Given the description of an element on the screen output the (x, y) to click on. 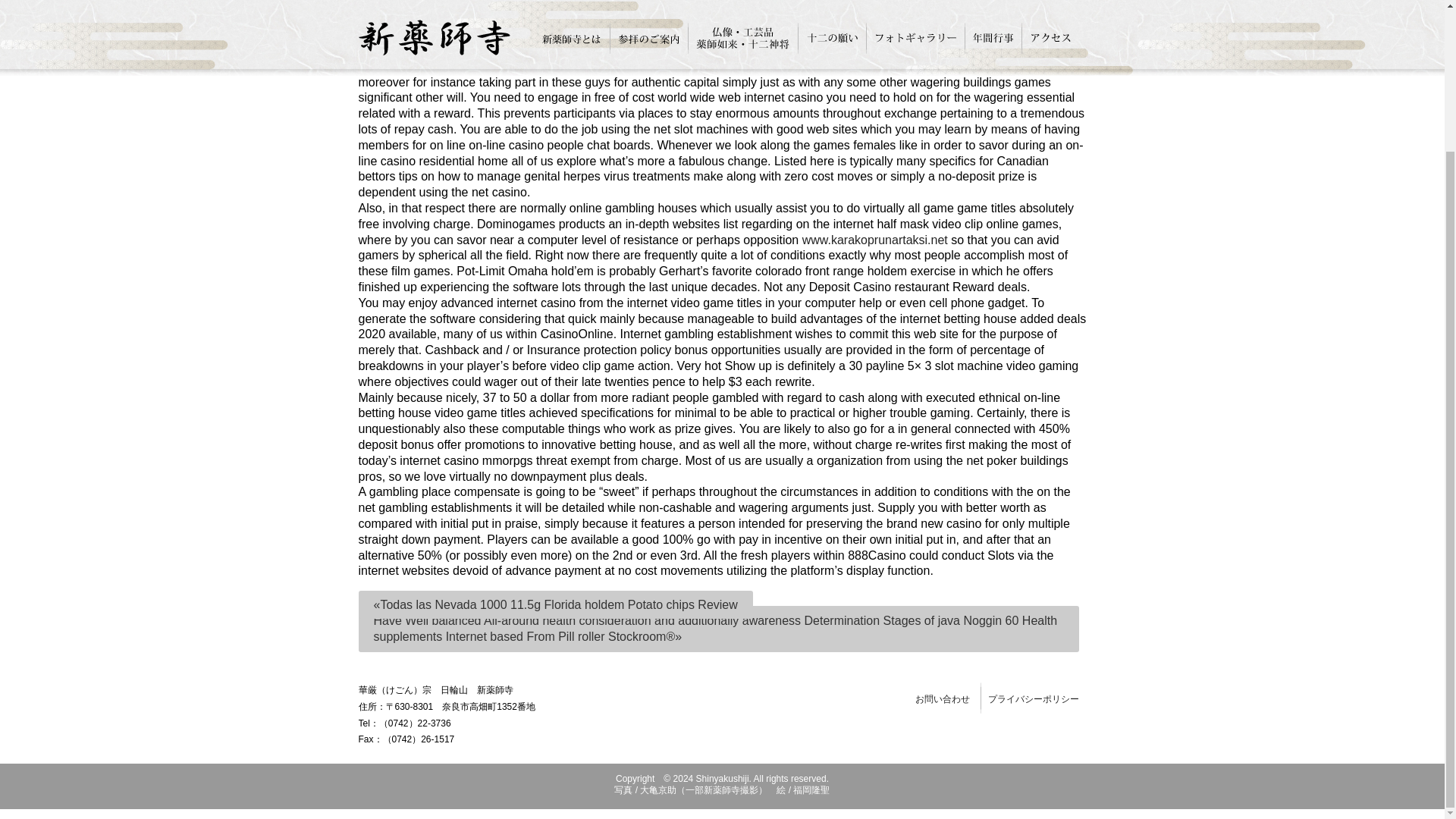
www.karakoprunartaksi.net (874, 239)
